Given the description of an element on the screen output the (x, y) to click on. 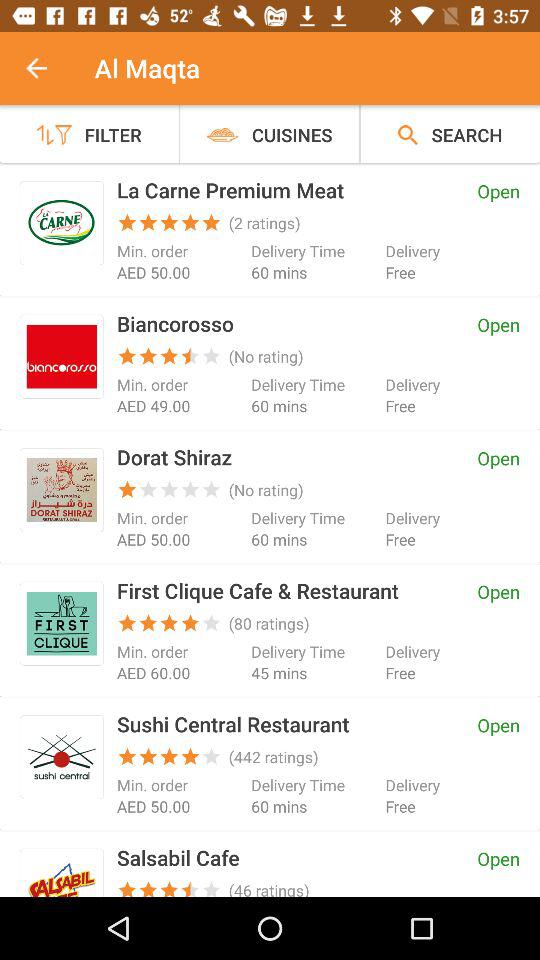
select logo (61, 876)
